Given the description of an element on the screen output the (x, y) to click on. 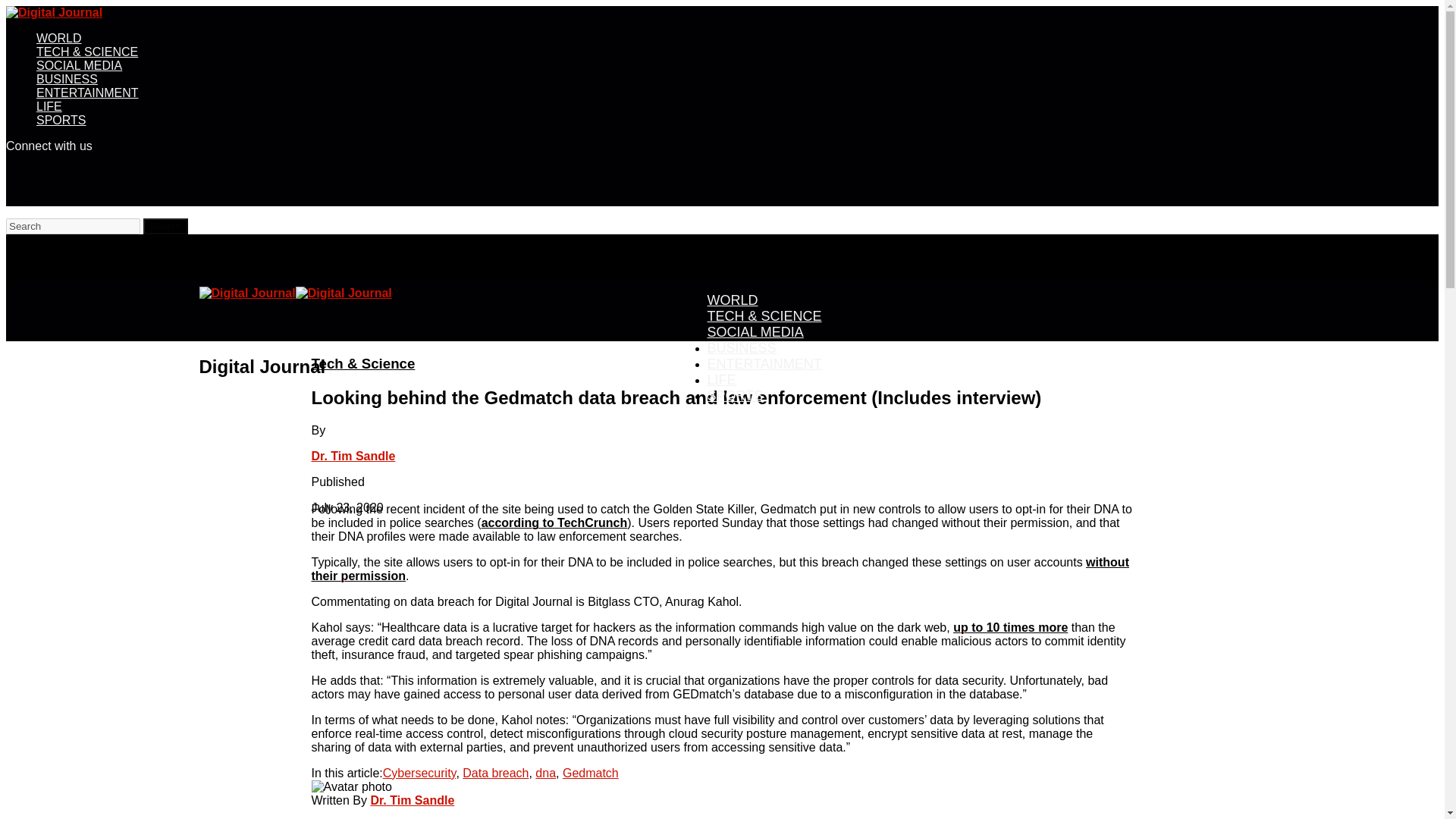
Gedmatch (590, 772)
ENTERTAINMENT (87, 92)
Data breach (495, 772)
according to TechCrunch (554, 522)
LIFE (49, 106)
without their permission (719, 569)
ENTERTAINMENT (763, 363)
SPORTS (60, 119)
BUSINESS (66, 78)
SOCIAL MEDIA (79, 65)
